Given the description of an element on the screen output the (x, y) to click on. 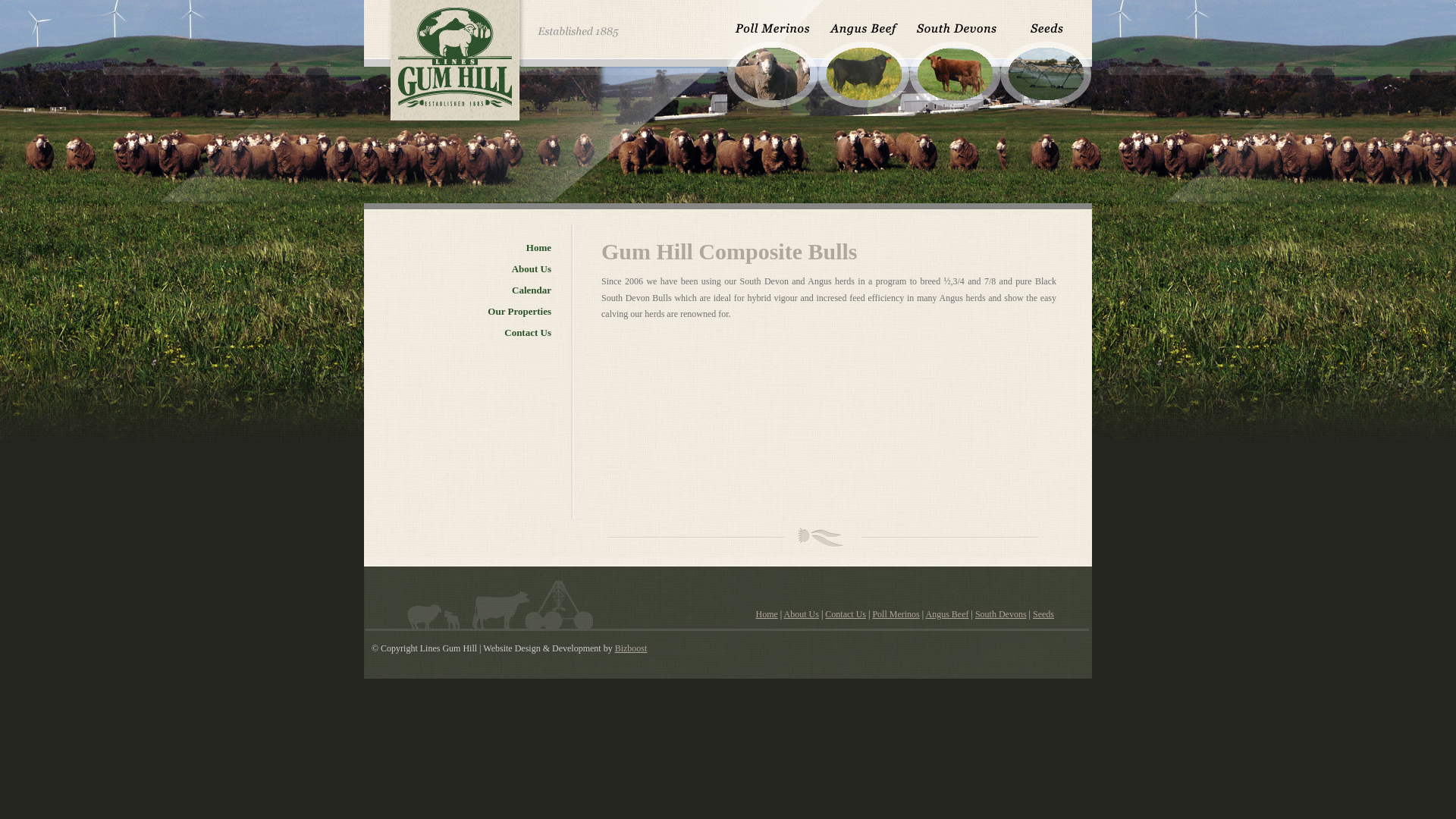
SOUTH DEVONS Element type: text (954, 58)
Contact Us Element type: text (845, 613)
South Devons Element type: text (1000, 613)
POLL MERINOS Element type: text (772, 58)
Home Element type: text (487, 249)
Seeds Element type: text (1043, 613)
Poll Merinos Element type: text (895, 613)
Bizboost Element type: text (631, 648)
SEEDS Element type: text (1045, 58)
Home Element type: text (767, 613)
About Us Element type: text (801, 613)
Our Properties Element type: text (487, 312)
Contact Us Element type: text (487, 334)
About Us Element type: text (487, 270)
Calendar Element type: text (487, 291)
ANGUS BEEF Element type: text (863, 58)
Angus Beef Element type: text (947, 613)
